Given the description of an element on the screen output the (x, y) to click on. 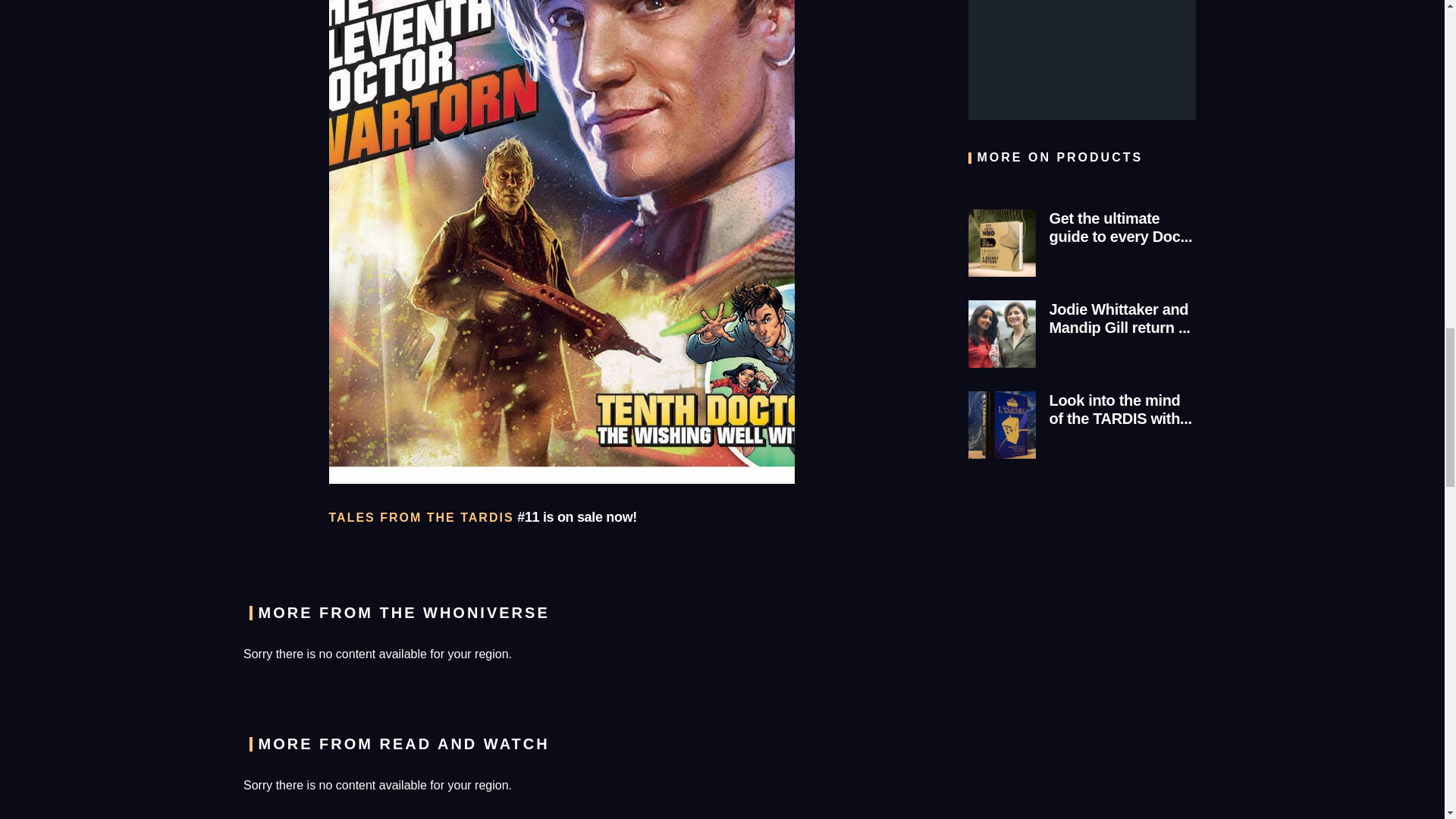
Get the ultimate guide to every Doc... (1081, 249)
Get the ultimate guide to every Doctor Who Earth invasion (1001, 242)
Jodie Whittaker and Mandip Gill return ... (1081, 340)
Jodie Whittaker and Mandip Gill (1001, 333)
I, TARDIS (1001, 424)
Look into the mind of the TARDIS with... (1081, 430)
